Given the description of an element on the screen output the (x, y) to click on. 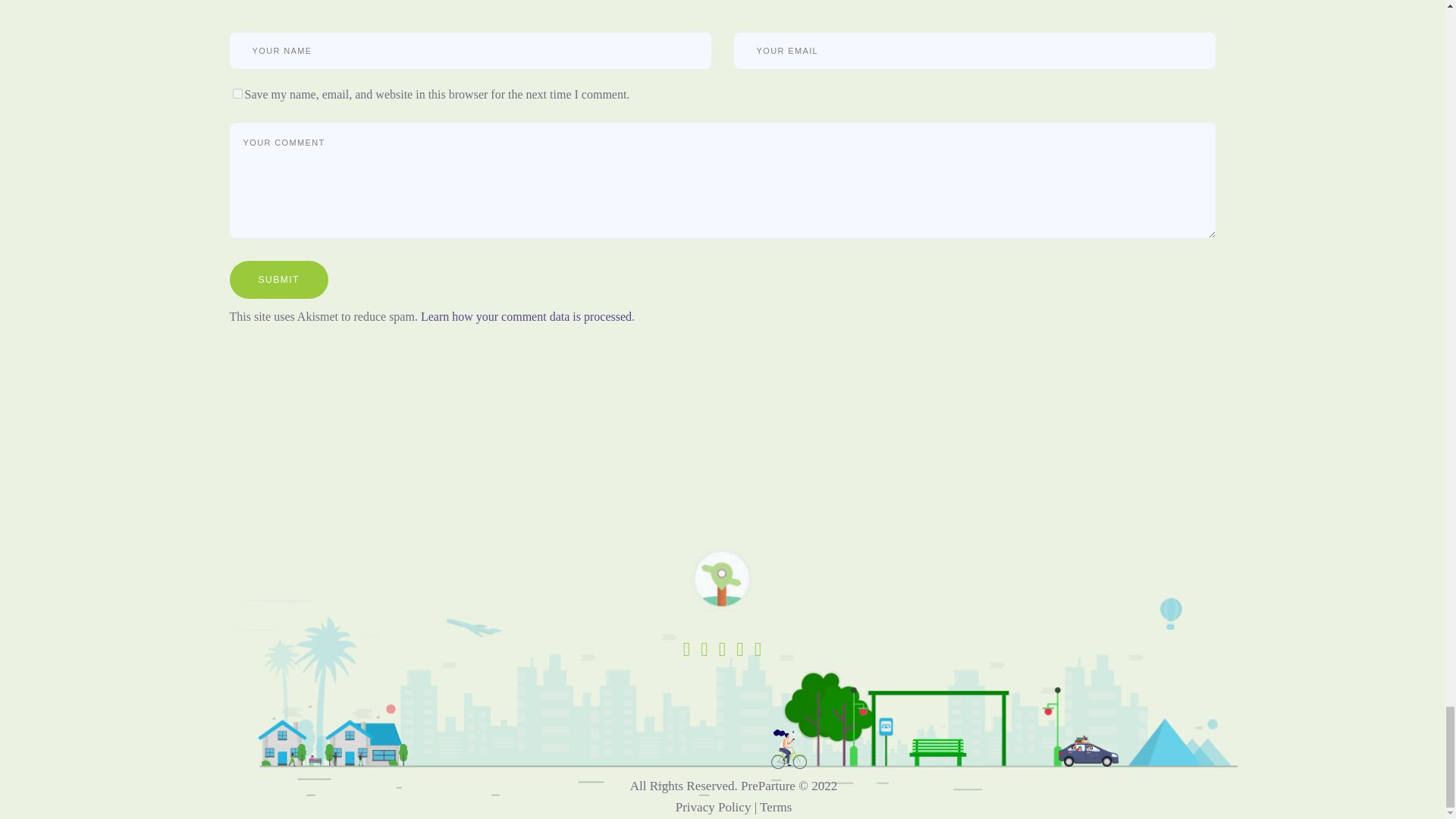
yes (236, 93)
Submit (277, 279)
